Given the description of an element on the screen output the (x, y) to click on. 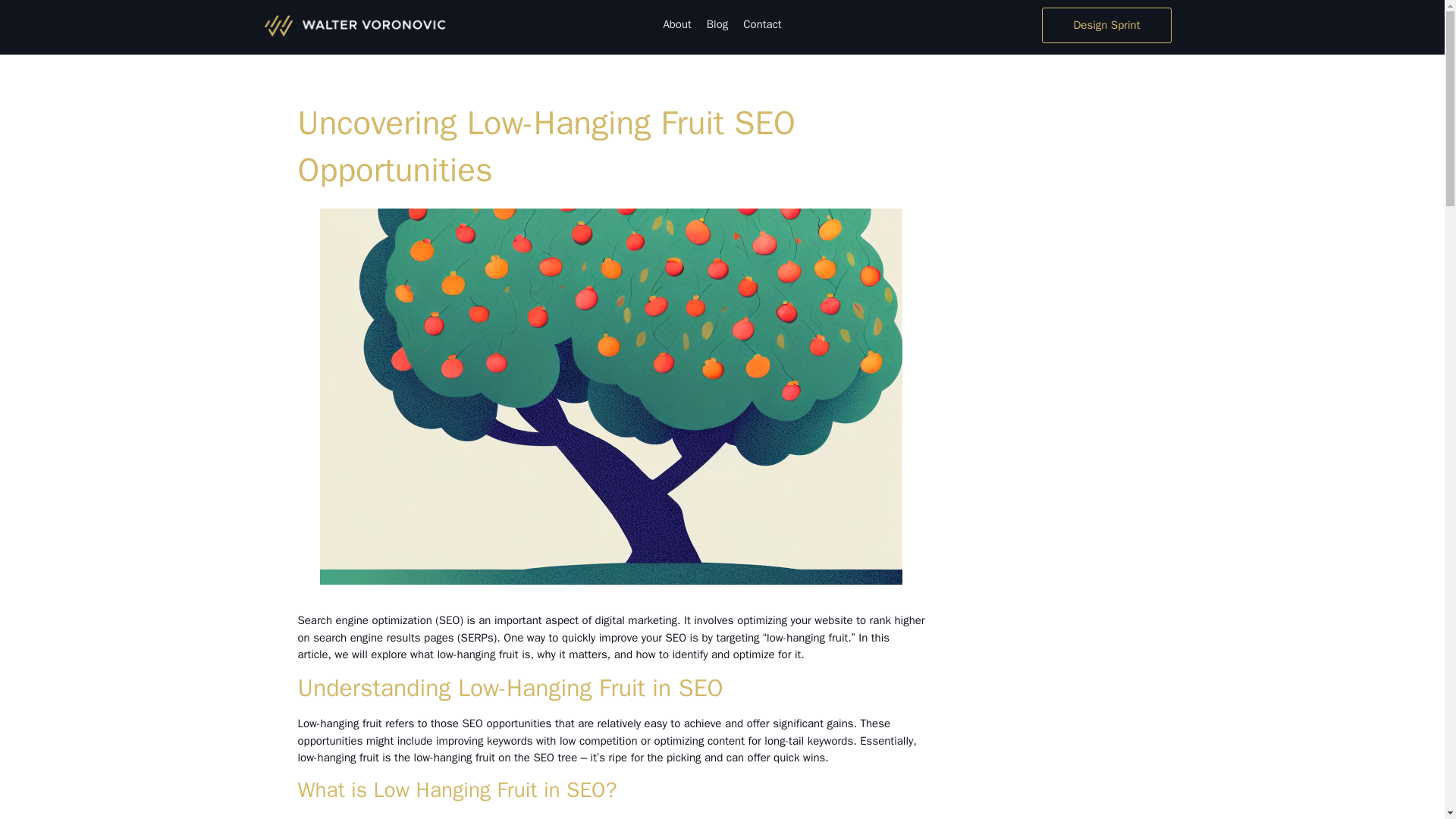
Design Sprint (1106, 25)
About (676, 24)
Contact (761, 24)
Blog (717, 24)
